Given the description of an element on the screen output the (x, y) to click on. 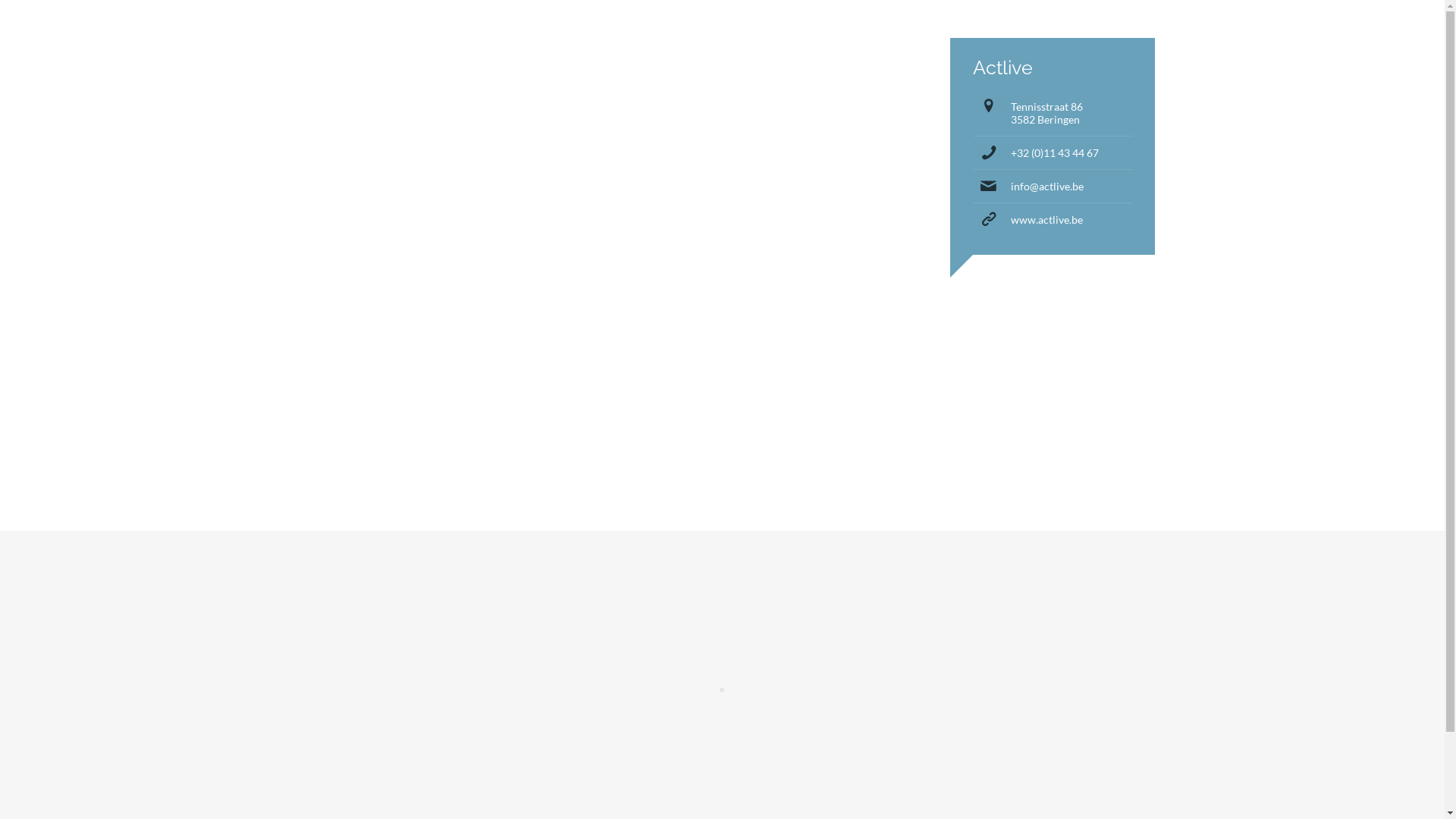
www.actlive.be Element type: text (1046, 219)
+32 (0)11 43 44 67 Element type: text (1054, 152)
info@actlive.be Element type: text (1046, 185)
